Given the description of an element on the screen output the (x, y) to click on. 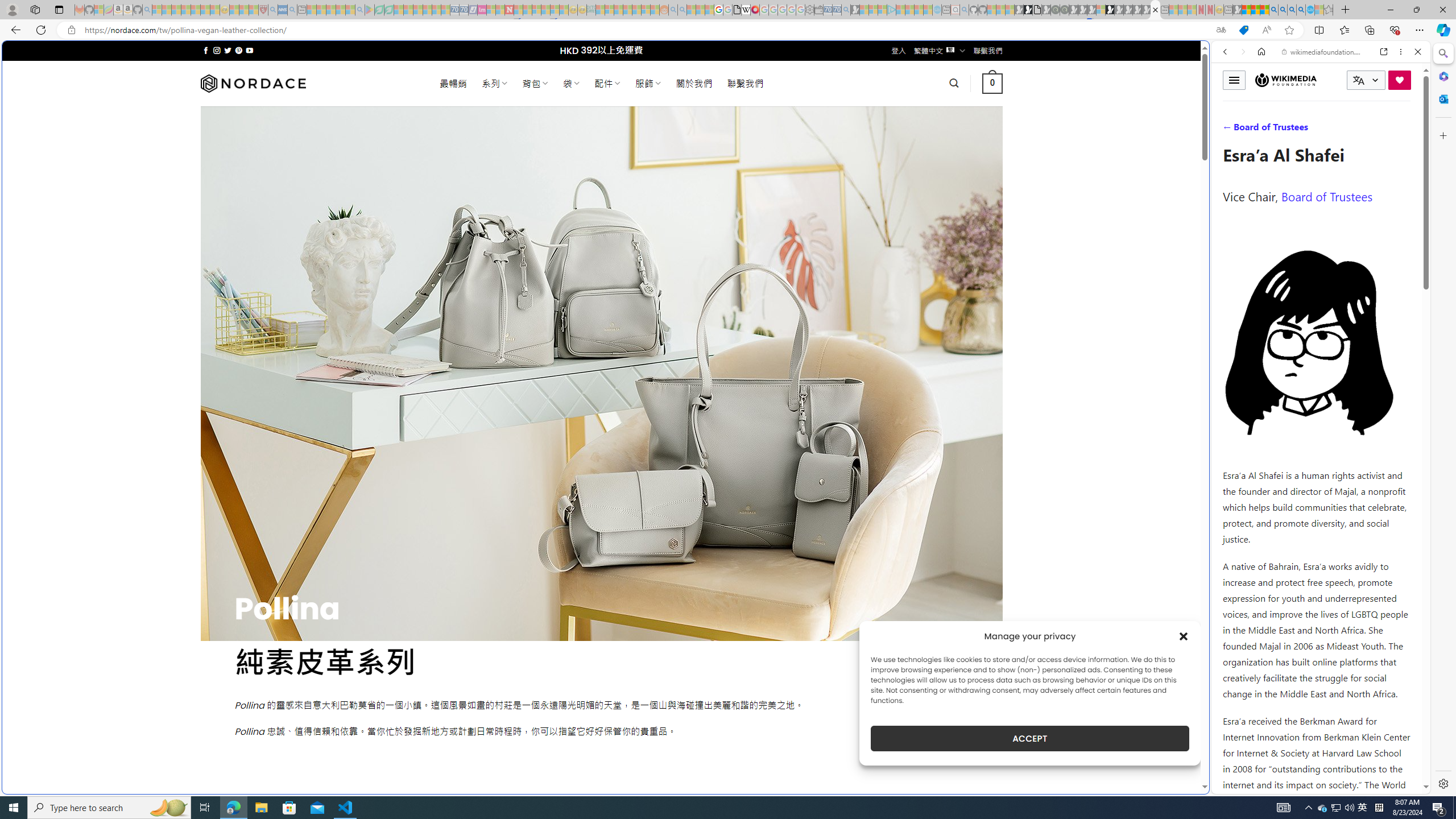
Class: cmplz-close (1183, 636)
Browser essentials (1394, 29)
This site scope (1259, 102)
github - Search - Sleeping (964, 9)
DITOGAMES AG Imprint - Sleeping (590, 9)
Forward (1242, 51)
Microsoft-Report a Concern to Bing - Sleeping (98, 9)
Trusted Community Engagement and Contributions | Guidelines (518, 9)
Cheap Car Rentals - Save70.com - Sleeping (836, 9)
Add this page to favorites (Ctrl+D) (1289, 29)
